Given the description of an element on the screen output the (x, y) to click on. 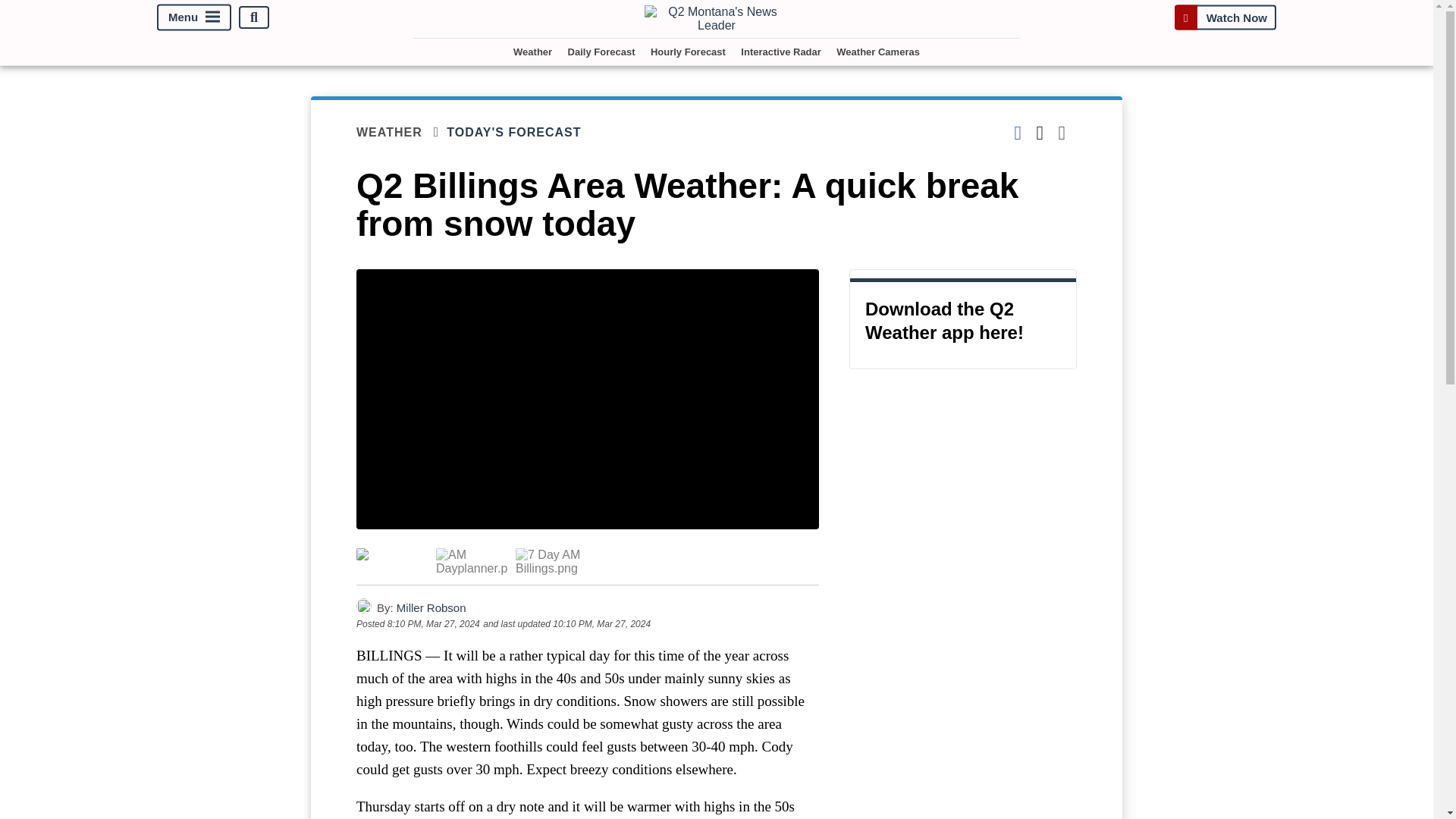
Watch Now (1224, 16)
Menu (194, 17)
